Given the description of an element on the screen output the (x, y) to click on. 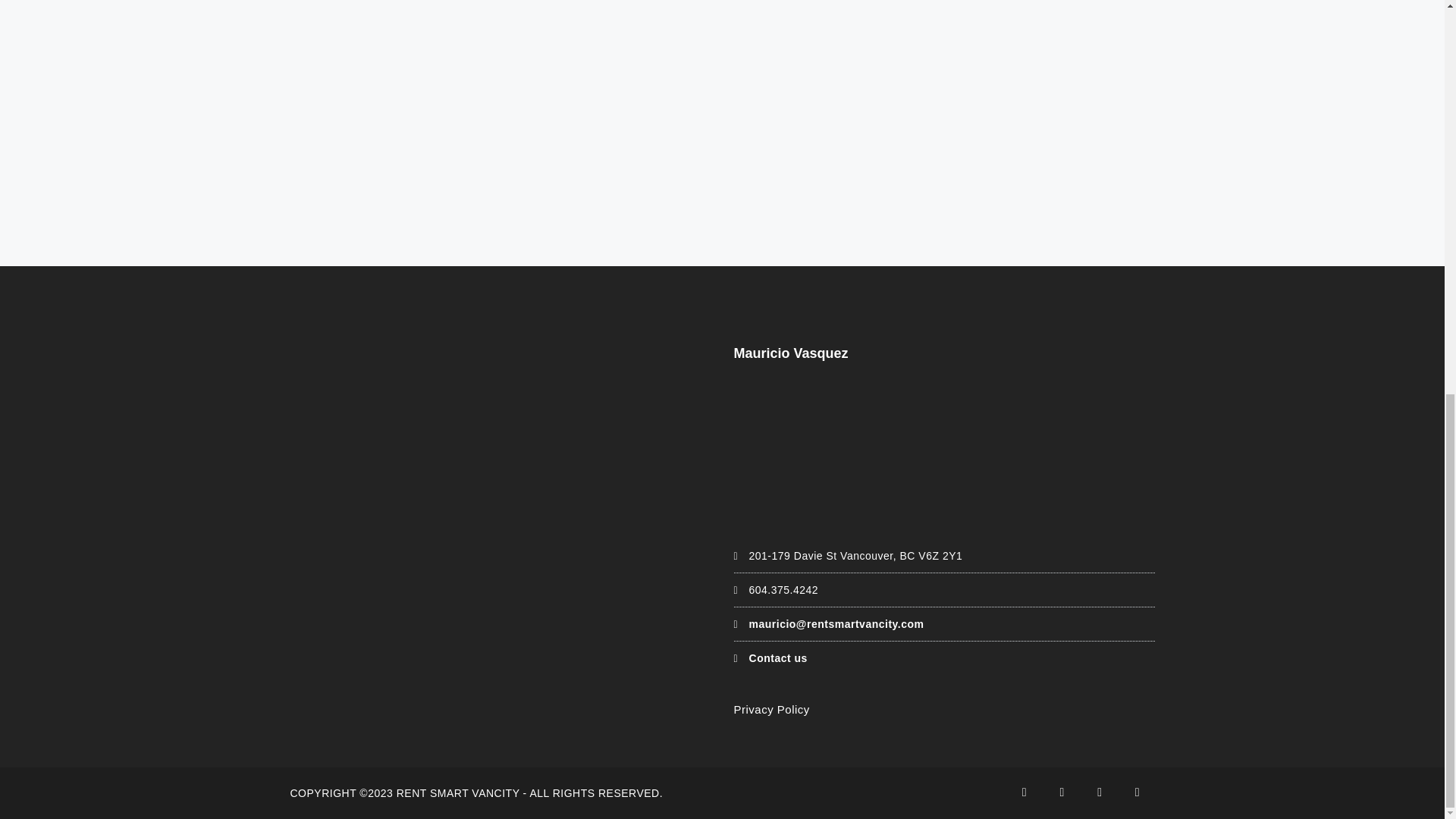
Privacy Policy (771, 708)
Contact us (774, 657)
